Given the description of an element on the screen output the (x, y) to click on. 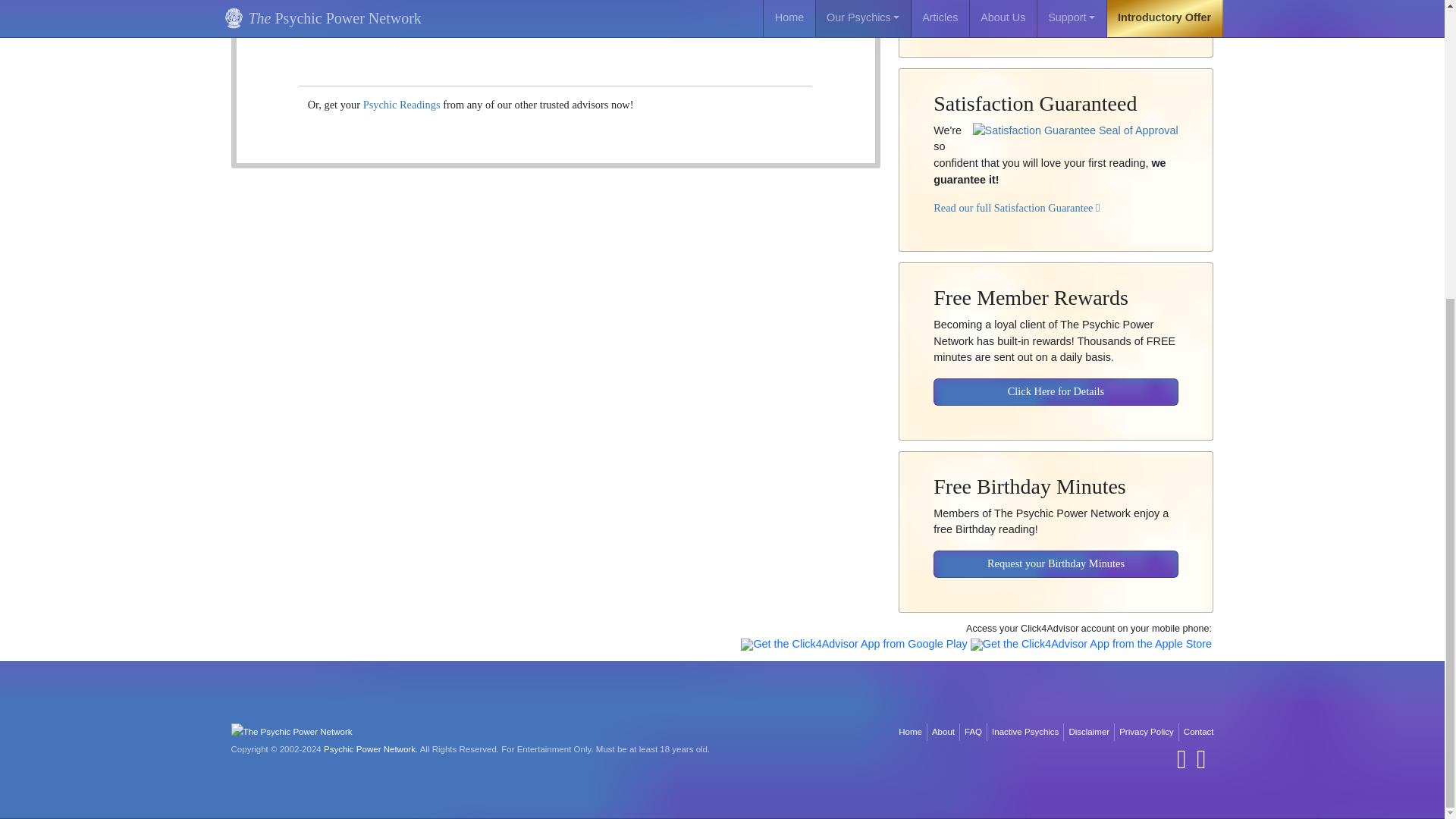
Please Watch the Click4Advisor Video Tutorial  (1041, 4)
Click Here for Details (1055, 380)
Home (909, 732)
Read our full Satisfaction Guarantee  (1016, 196)
Request your Birthday Minutes (1055, 553)
Psychic Readings (401, 104)
Psychic Readings (401, 104)
